Given the description of an element on the screen output the (x, y) to click on. 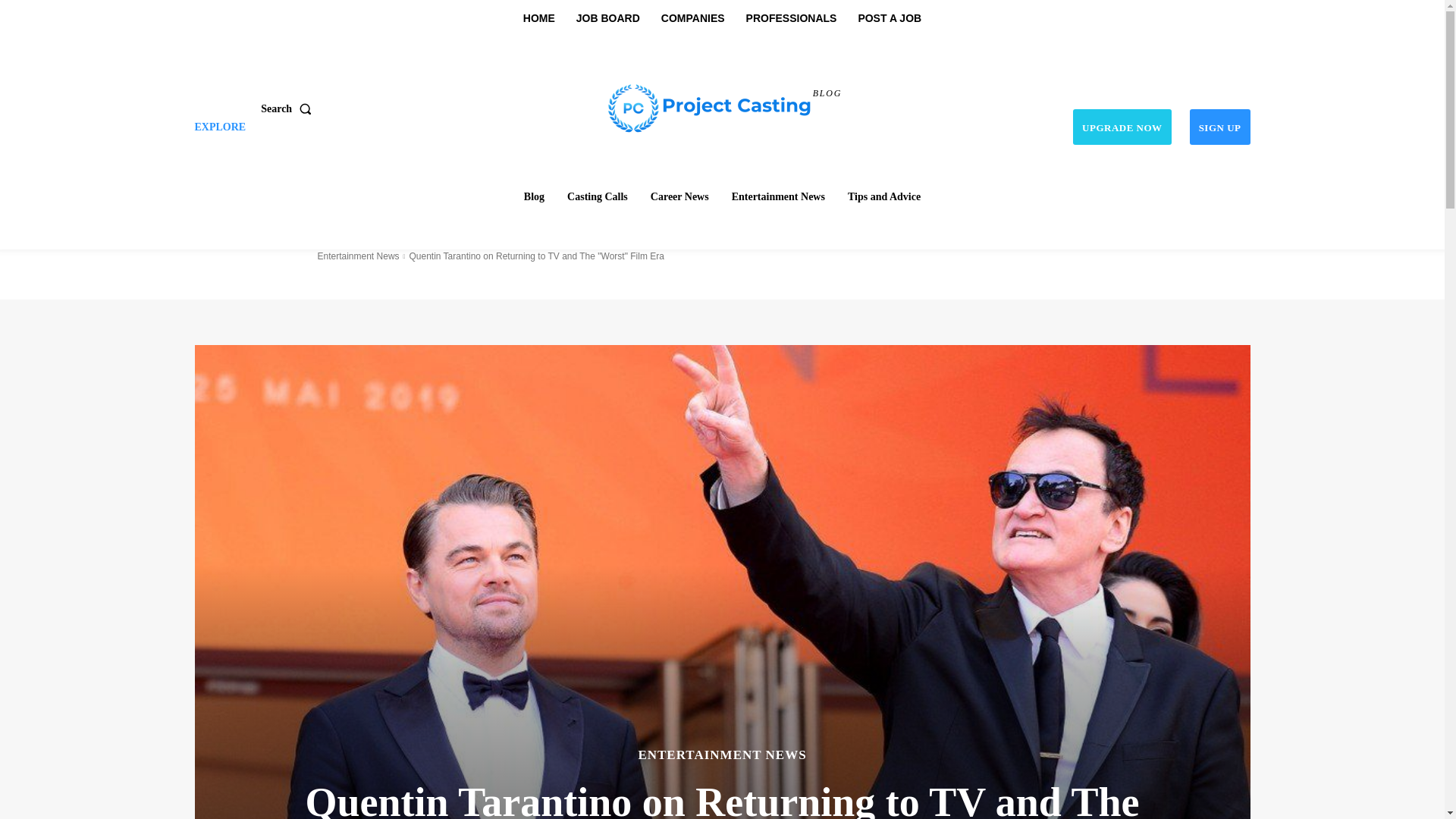
POST A JOB (889, 18)
Entertainment News (777, 196)
Search (288, 108)
SIGN UP (1219, 126)
Career News (679, 196)
HOME (539, 18)
Casting Calls (596, 196)
BLOG (724, 106)
EXPLORE (219, 126)
Project Casting Blog (709, 106)
JOB BOARD (608, 18)
COMPANIES (692, 18)
Home (533, 196)
Blog (533, 196)
Project Casting Blog (724, 106)
